Given the description of an element on the screen output the (x, y) to click on. 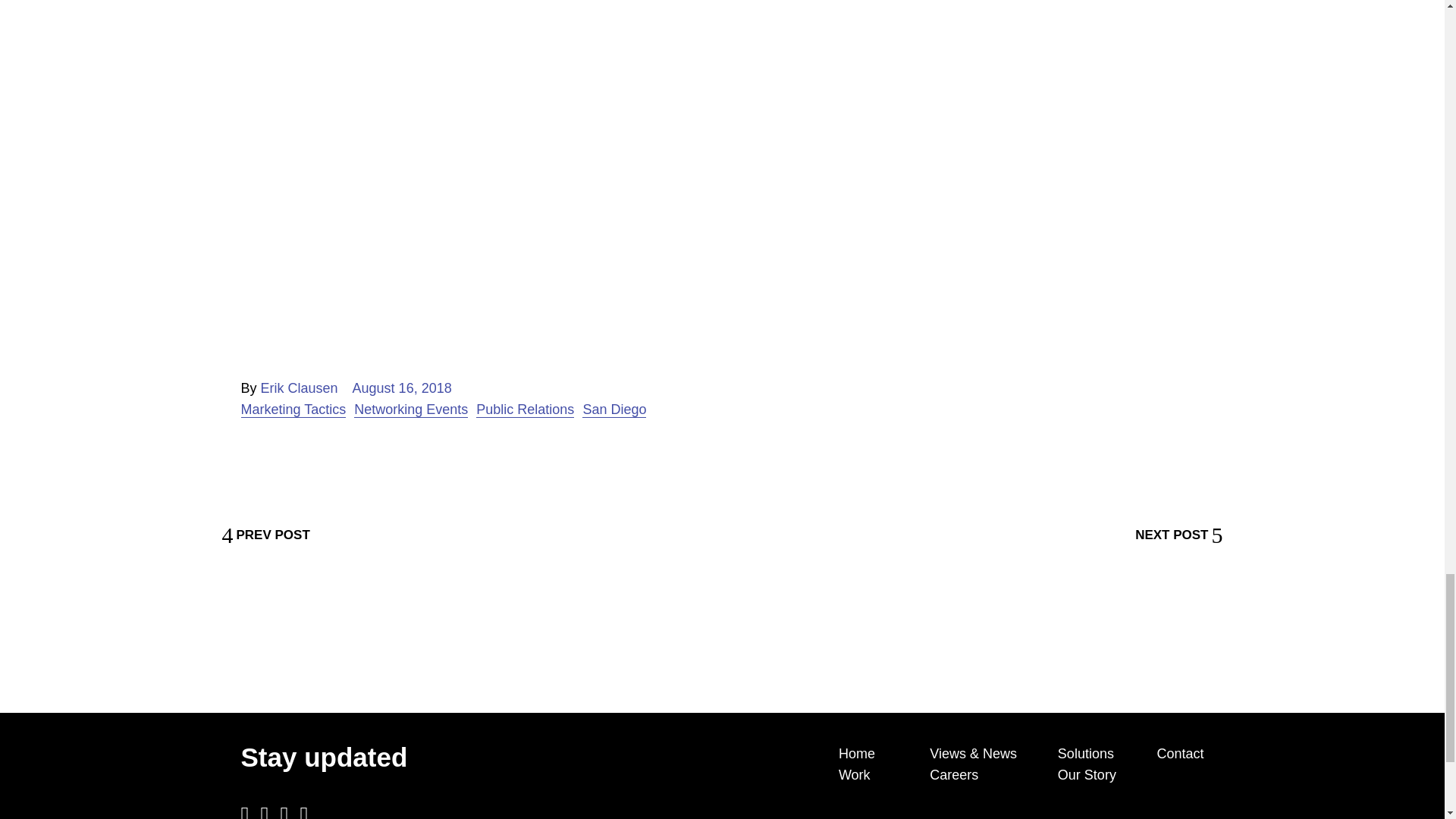
Marketing Tactics (293, 409)
Contact (1180, 753)
PREV POST (264, 535)
Public Relations (524, 409)
Solutions (1085, 753)
Posts by Erik Clausen (298, 387)
Networking Events (410, 409)
Erik Clausen (298, 387)
Work (854, 774)
Careers (954, 774)
